Given the description of an element on the screen output the (x, y) to click on. 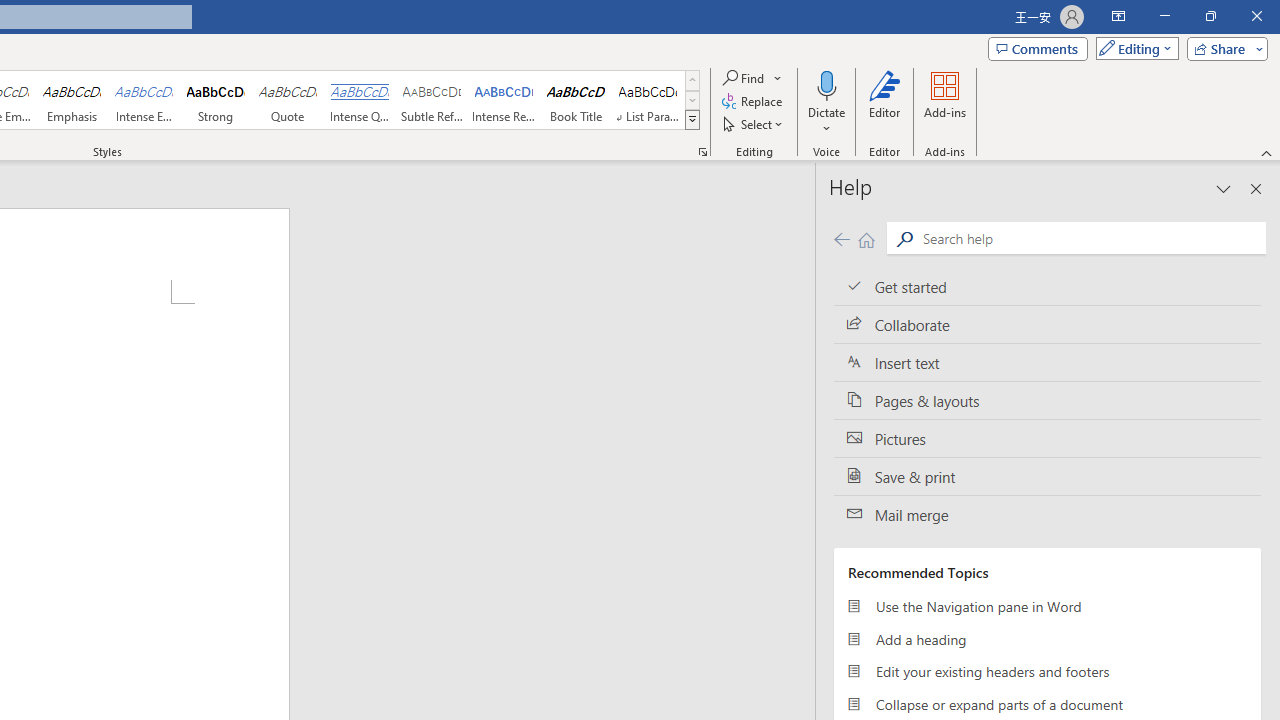
Search (1089, 237)
Collaborate (1047, 325)
Pictures (1047, 438)
Ribbon Display Options (1118, 16)
Mode (1133, 47)
Find (744, 78)
Task Pane Options (1224, 188)
Previous page (841, 238)
Row up (692, 79)
Add a heading (1047, 638)
Close (1256, 16)
Home (866, 238)
Collapse or expand parts of a document (1047, 704)
